Given the description of an element on the screen output the (x, y) to click on. 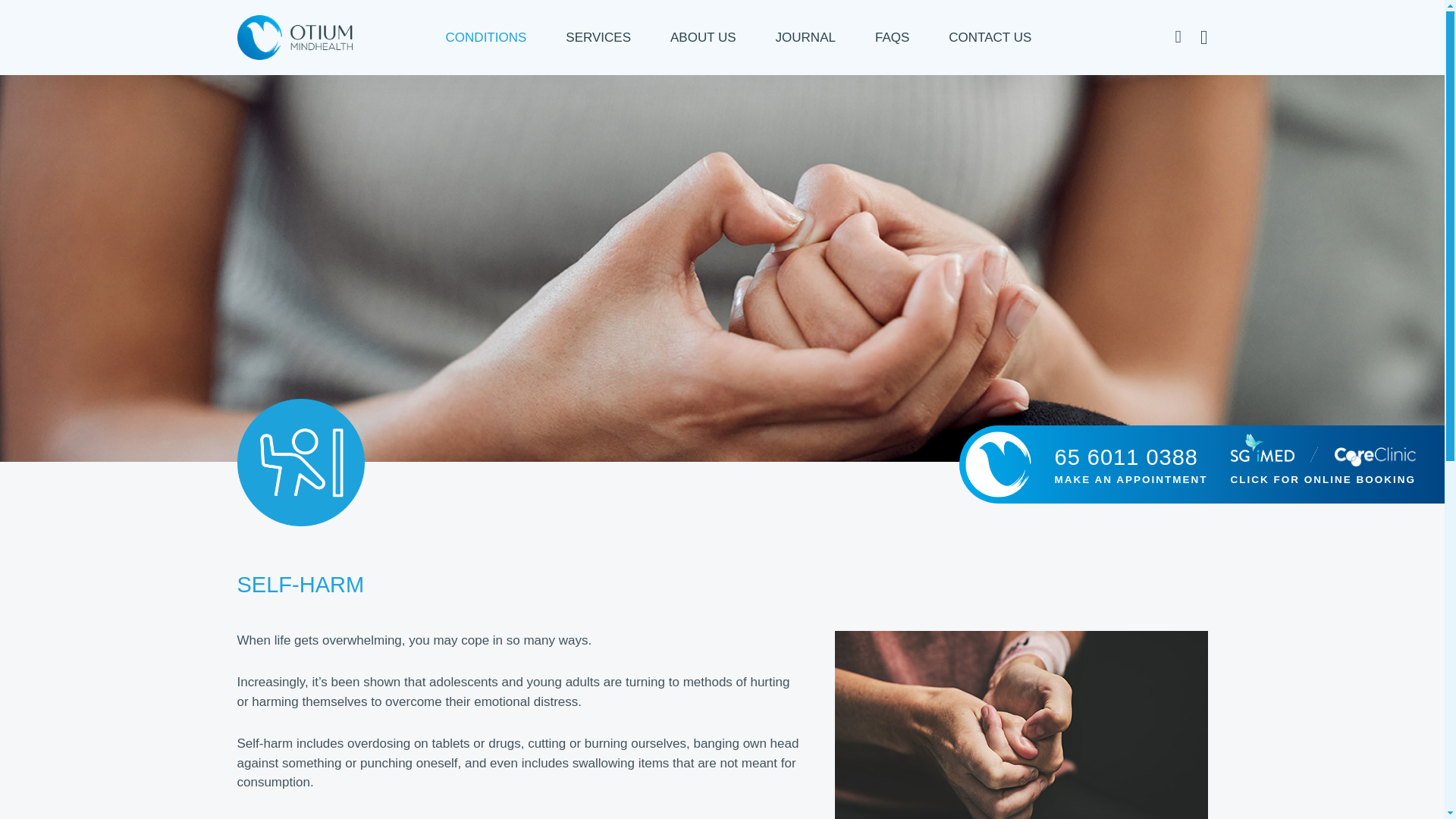
SERVICES (598, 37)
CONTACT US (979, 37)
CONDITIONS (496, 37)
65 6011 0388 (1125, 457)
ABOUT US (702, 37)
JOURNAL (805, 37)
FAQS (892, 37)
